Given the description of an element on the screen output the (x, y) to click on. 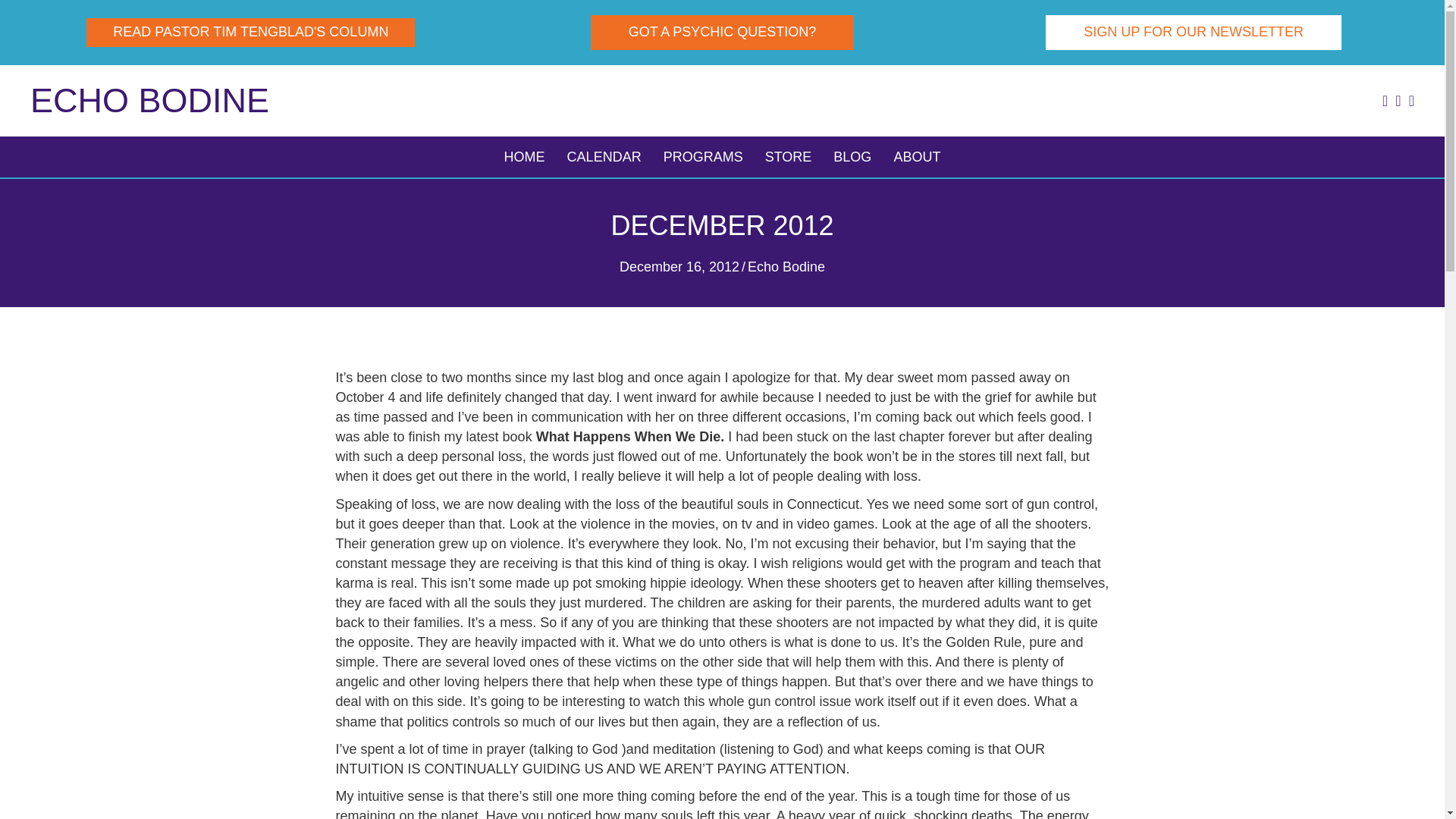
PROGRAMS (703, 156)
STORE (788, 156)
GOT A PSYCHIC QUESTION? (722, 32)
CALENDAR (604, 156)
Echo Bodine (149, 100)
READ PASTOR TIM TENGBLAD'S COLUMN (249, 32)
ABOUT (916, 156)
ECHO BODINE (149, 100)
SIGN UP FOR OUR NEWSLETTER (1192, 32)
BLOG (852, 156)
